Given the description of an element on the screen output the (x, y) to click on. 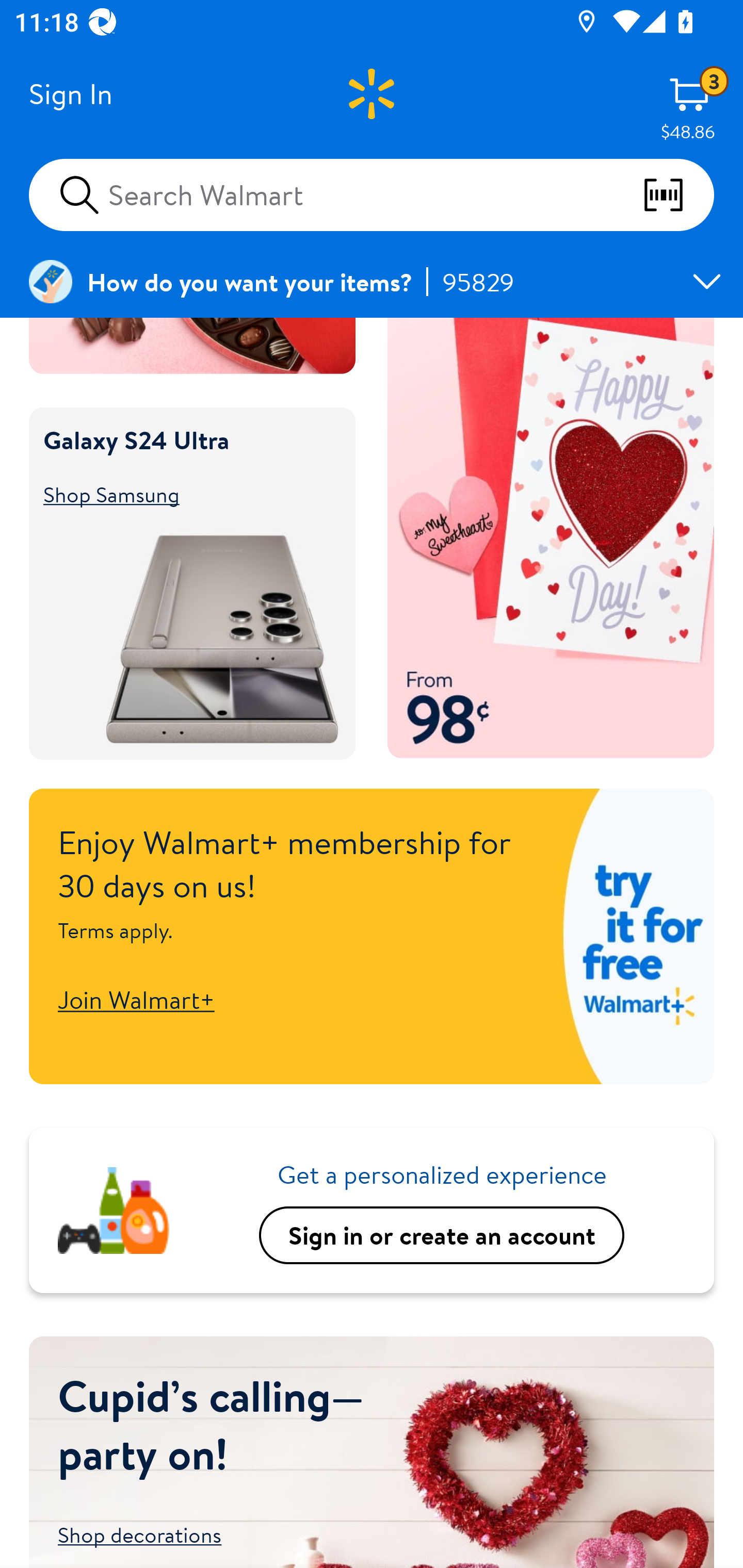
Sign In (70, 93)
Search Walmart scan barcodes qr codes and more (371, 194)
scan barcodes qr codes and more (677, 195)
Say it from the heart  Shop cards Shop cards (550, 538)
Shop Samsung Shop Samsung Galaxy S24 Ultra (183, 494)
Sign in or create an account (441, 1234)
